Given the description of an element on the screen output the (x, y) to click on. 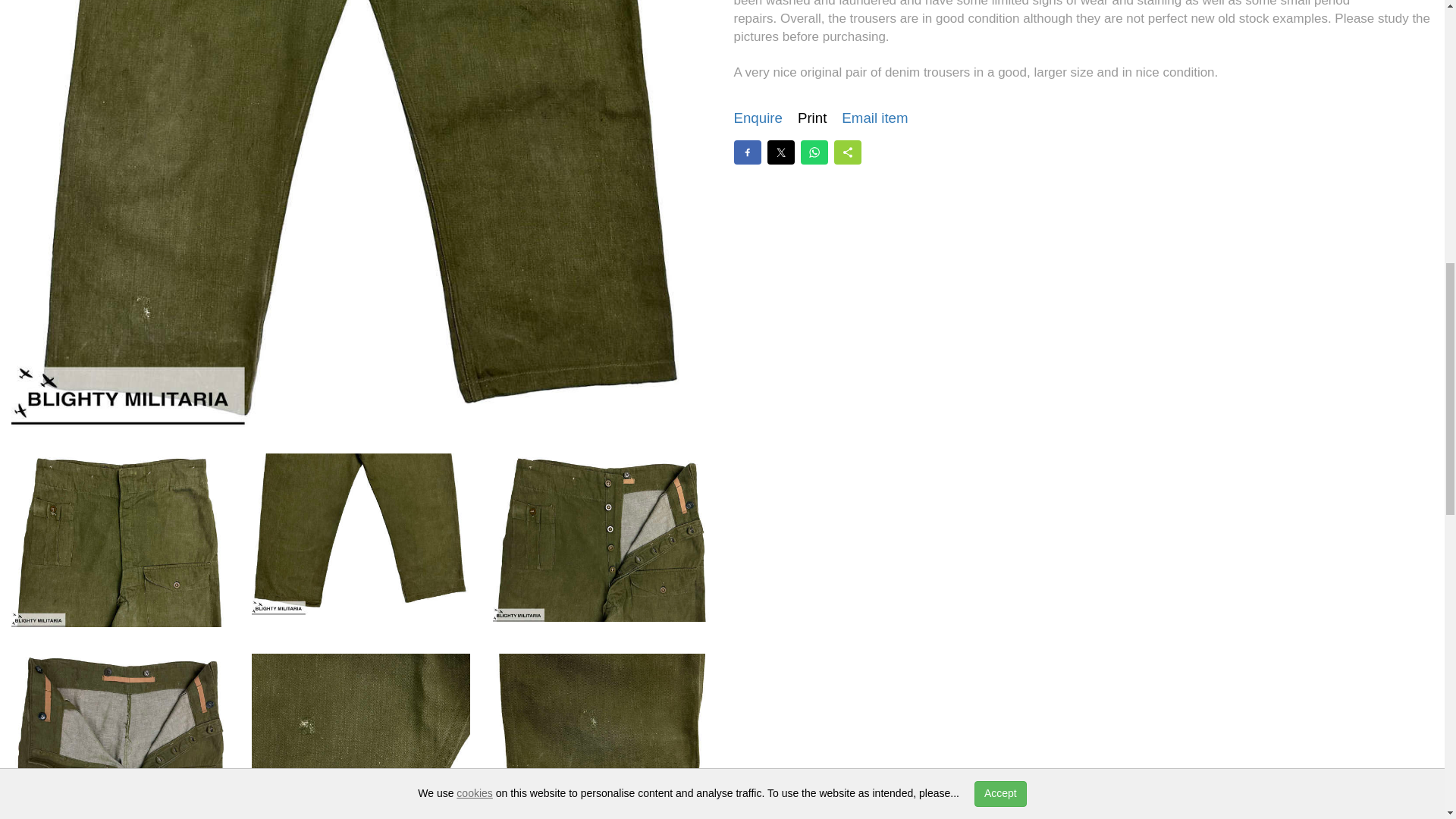
Print (812, 118)
Enquire (758, 118)
Email item (874, 118)
